Given the description of an element on the screen output the (x, y) to click on. 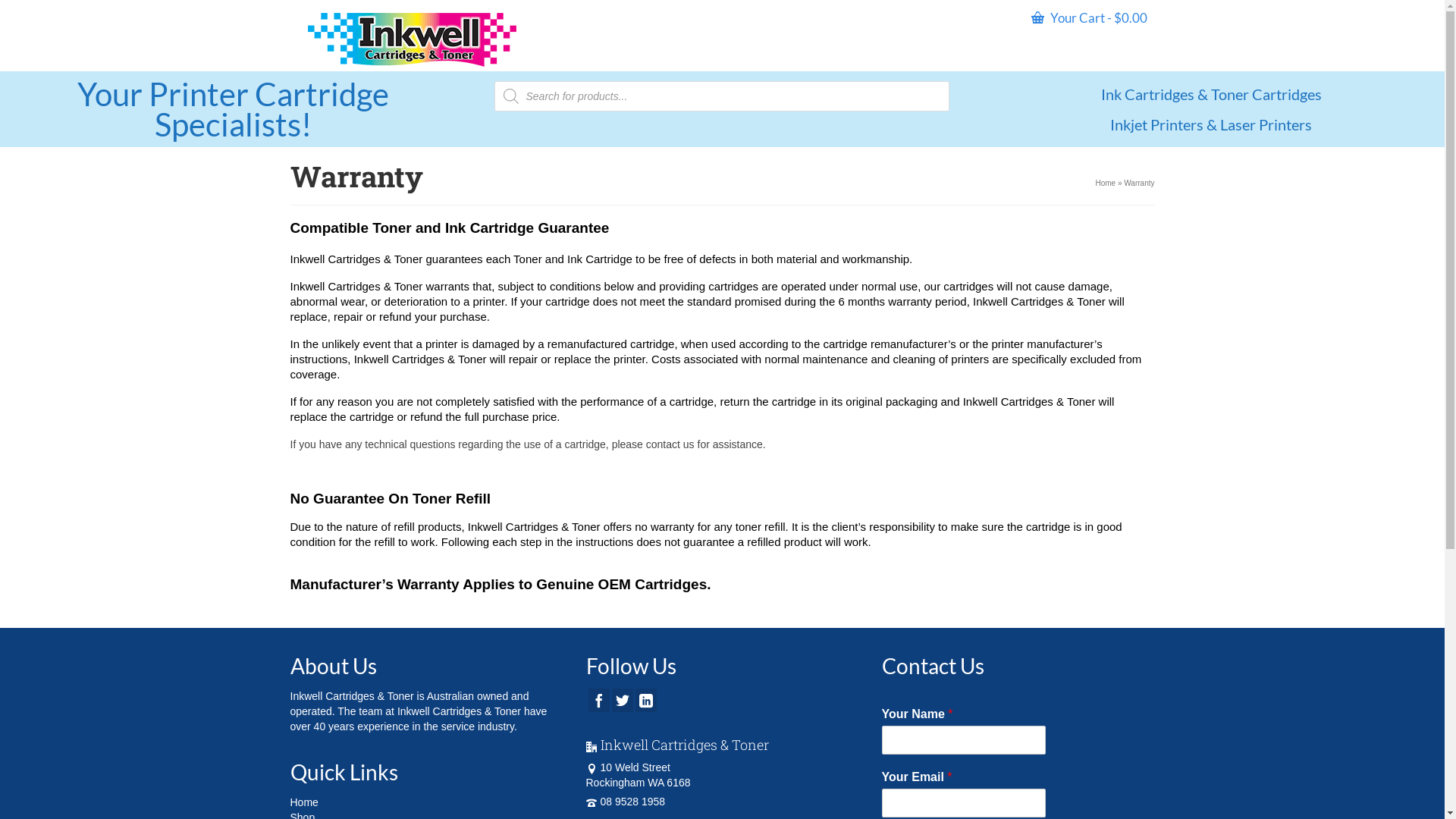
Home Element type: text (1105, 182)
Home Element type: text (303, 802)
Your Cart - $0.00 Element type: text (1088, 17)
Inkwell Cartridges & Toner Element type: hover (411, 39)
